Given the description of an element on the screen output the (x, y) to click on. 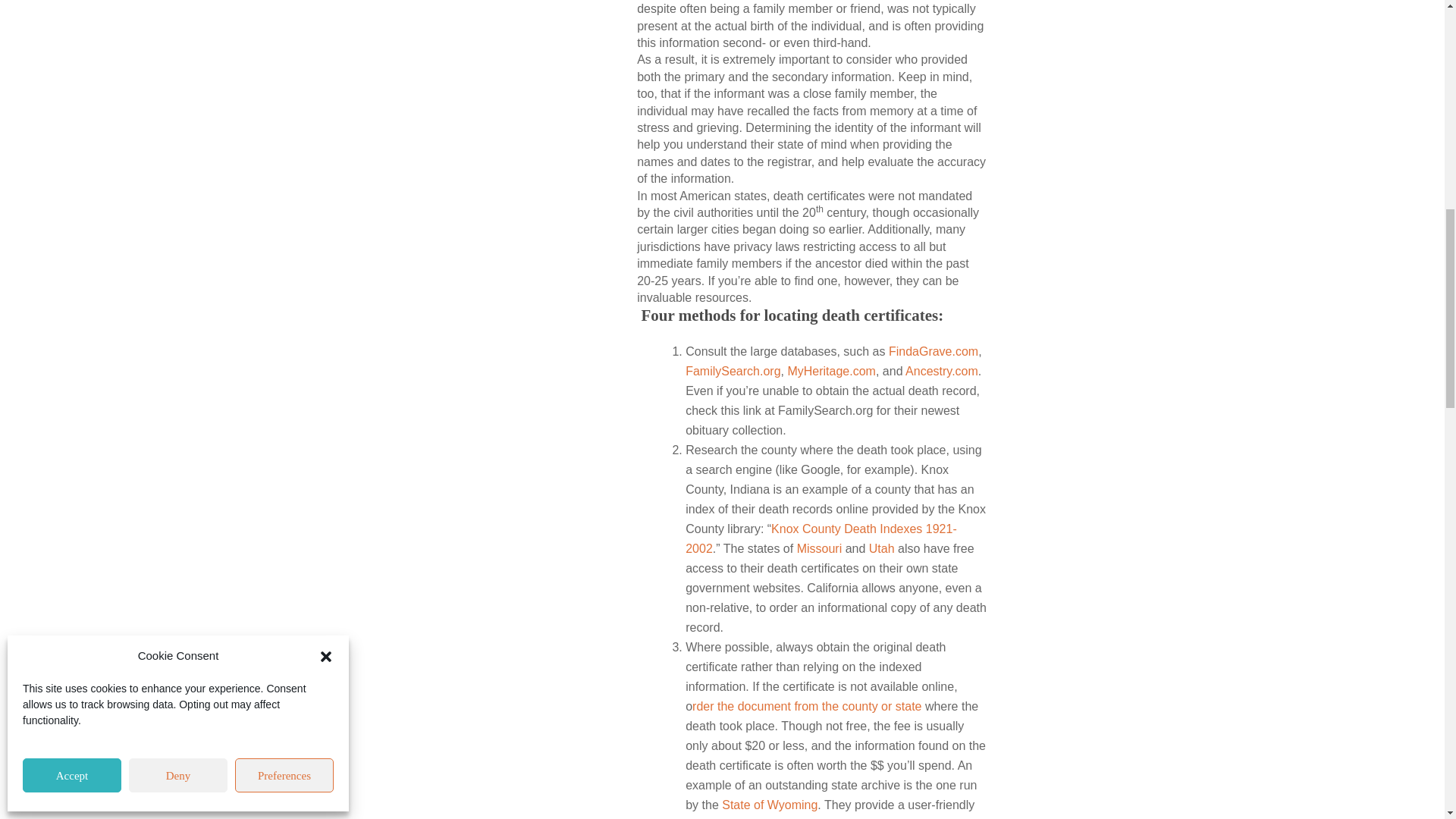
FamilySearch.org (732, 369)
Ancestry.com (941, 369)
Knox County Death Indexes, 1921-2002 (820, 537)
FindaGrave.com (933, 350)
Utah (882, 547)
state of Wyoming (769, 803)
Missouri (819, 547)
